Given the description of an element on the screen output the (x, y) to click on. 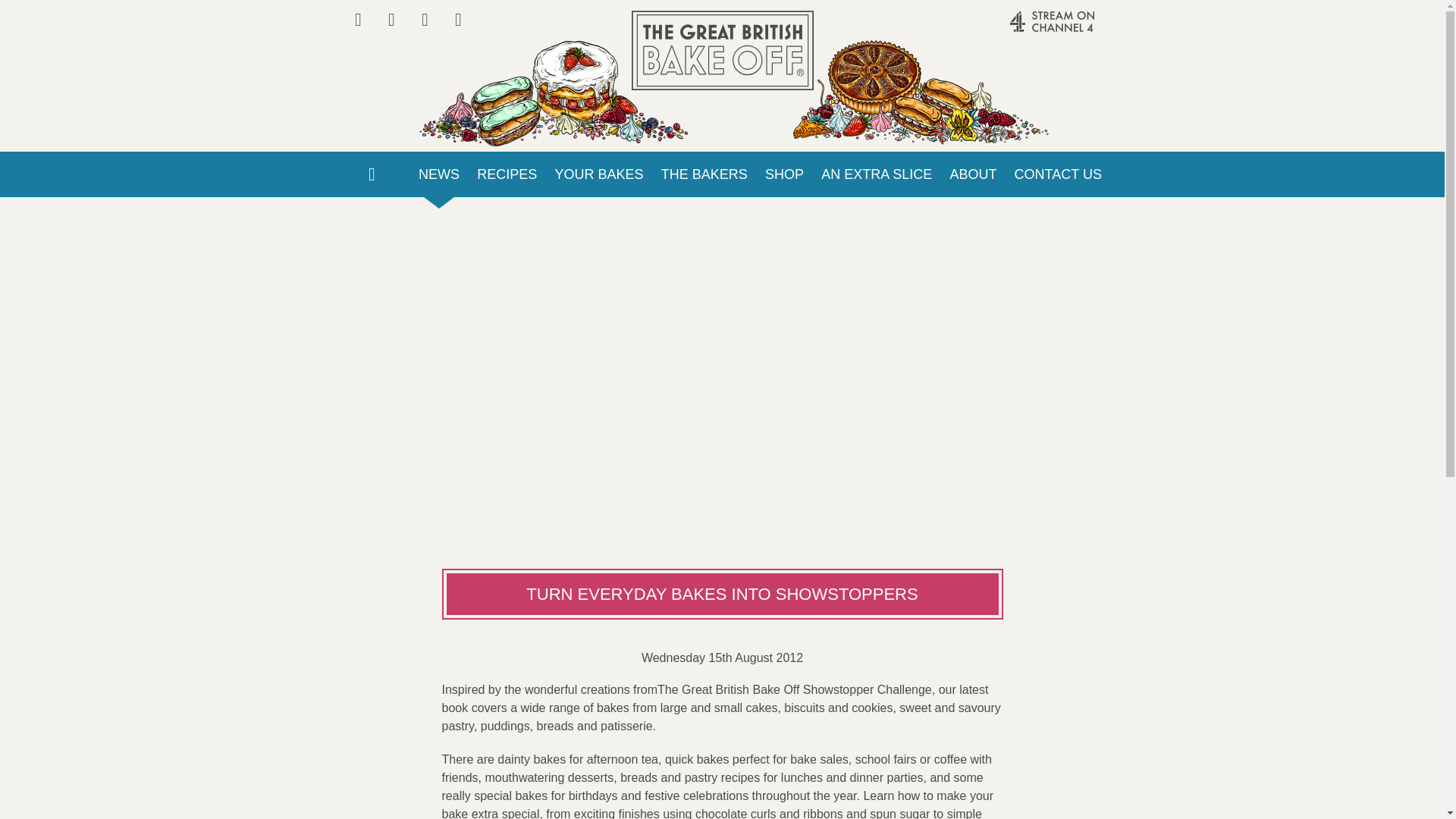
AN EXTRA SLICE (876, 174)
THE BAKERS (703, 174)
YOUR BAKES (599, 174)
STREAM ON CHANNEL 4 (1021, 29)
The Great British Bake Off (721, 50)
CONTACT US (1058, 174)
SHOP (783, 174)
ABOUT (973, 174)
RECIPES (507, 174)
HOME (371, 174)
NEWS (438, 174)
